Given the description of an element on the screen output the (x, y) to click on. 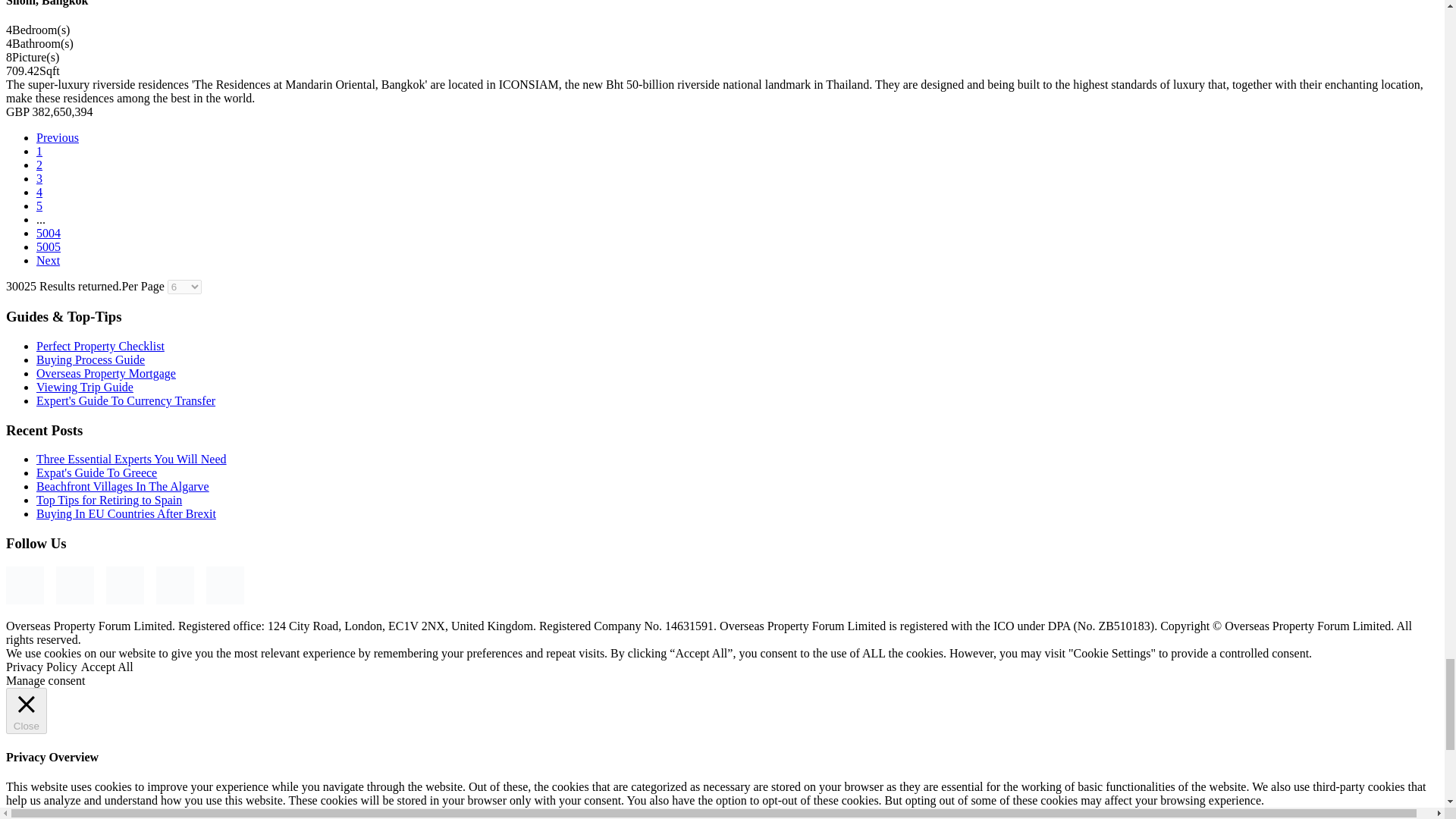
Facebook (24, 585)
Instagram (75, 585)
